Given the description of an element on the screen output the (x, y) to click on. 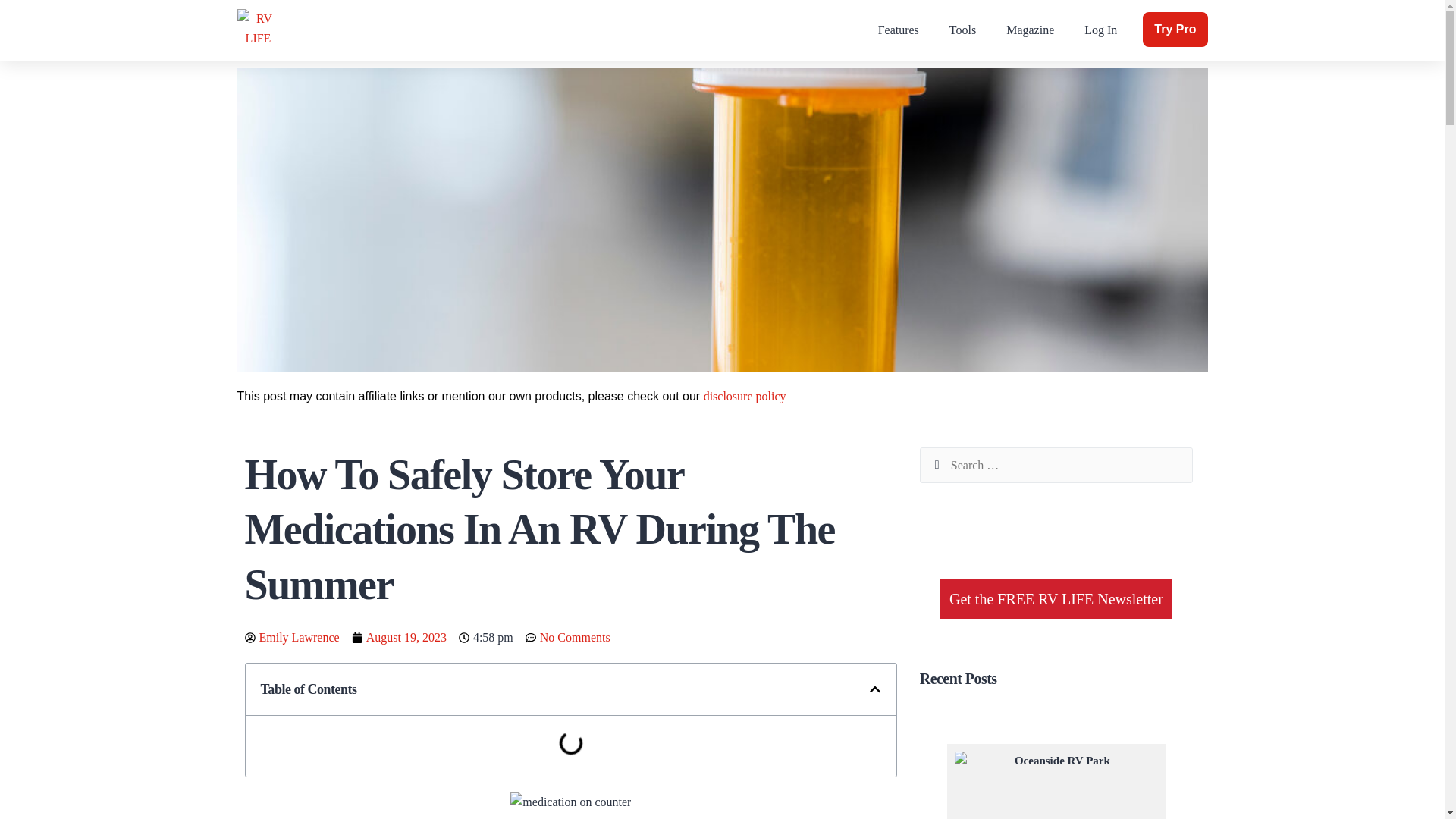
Magazine (1029, 30)
Features (898, 30)
Tools (962, 30)
Log In (1100, 30)
